Given the description of an element on the screen output the (x, y) to click on. 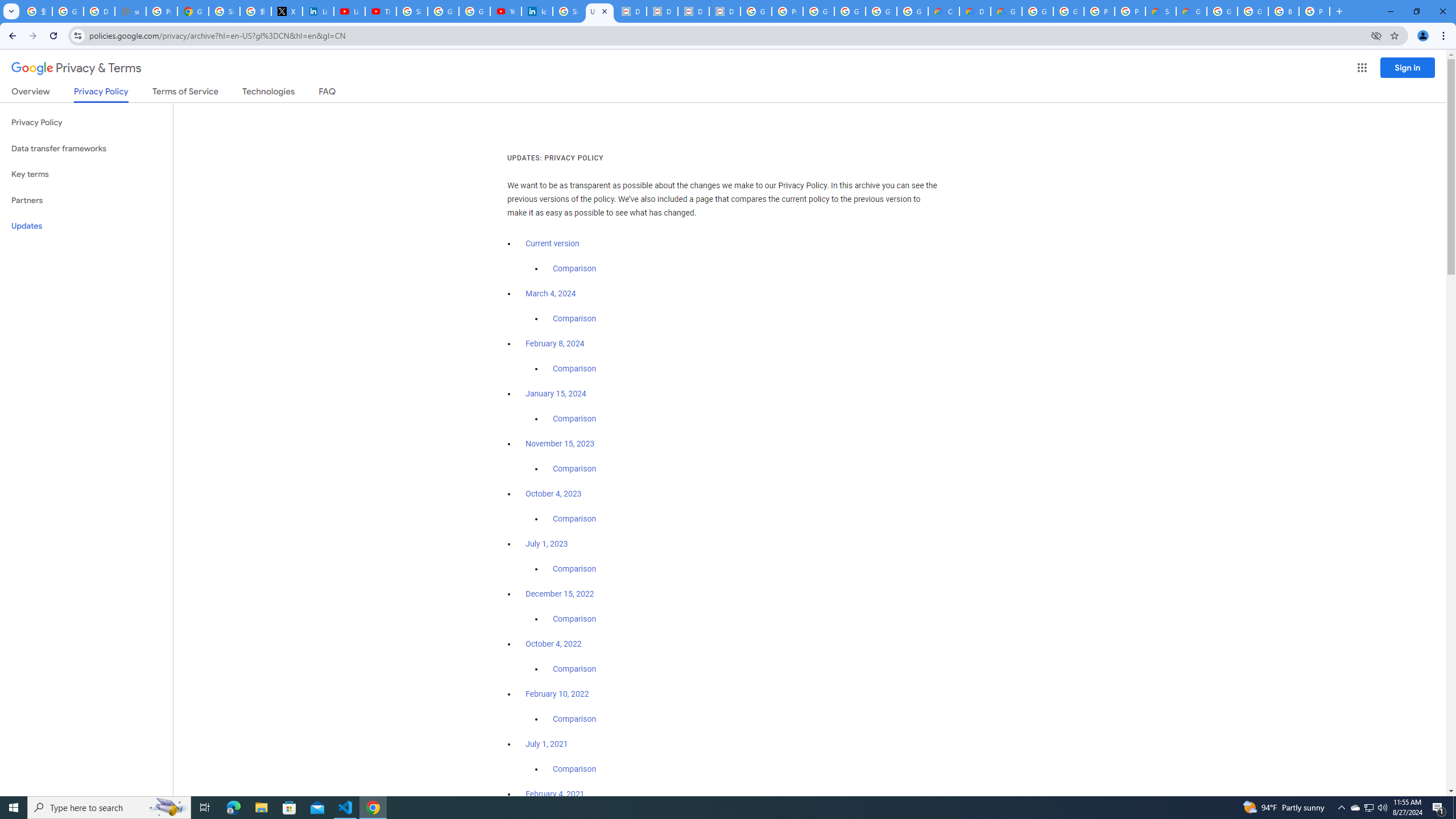
November 15, 2023 (560, 443)
Customer Care | Google Cloud (943, 11)
Data Privacy Framework (631, 11)
Google Workspace - Specific Terms (881, 11)
October 4, 2022 (553, 643)
Google Cloud Platform (1037, 11)
Privacy Help Center - Policies Help (161, 11)
